Given the description of an element on the screen output the (x, y) to click on. 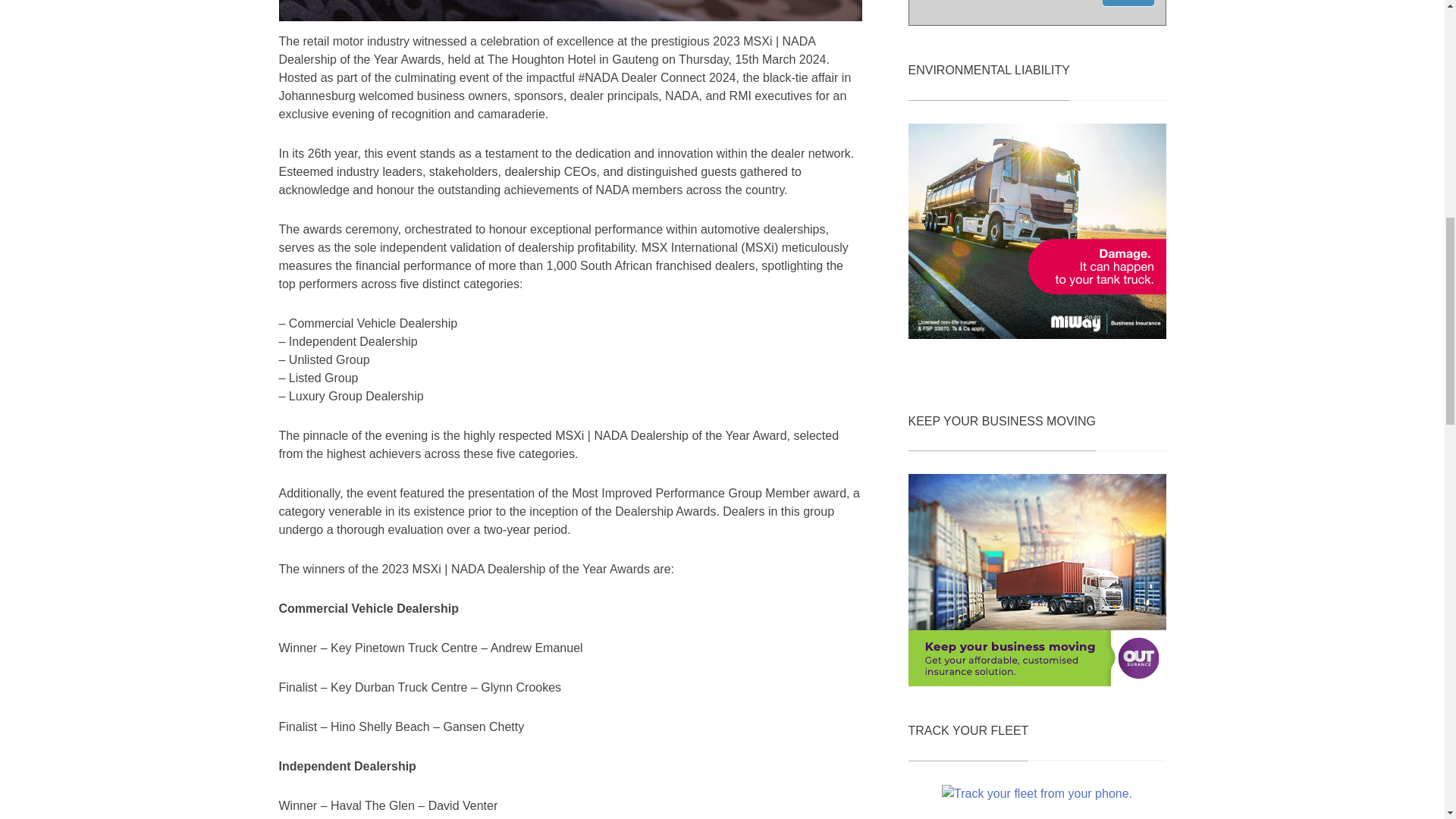
Submit (1128, 2)
Submit (1128, 2)
Track your fleet from your phone. (1037, 793)
